Given the description of an element on the screen output the (x, y) to click on. 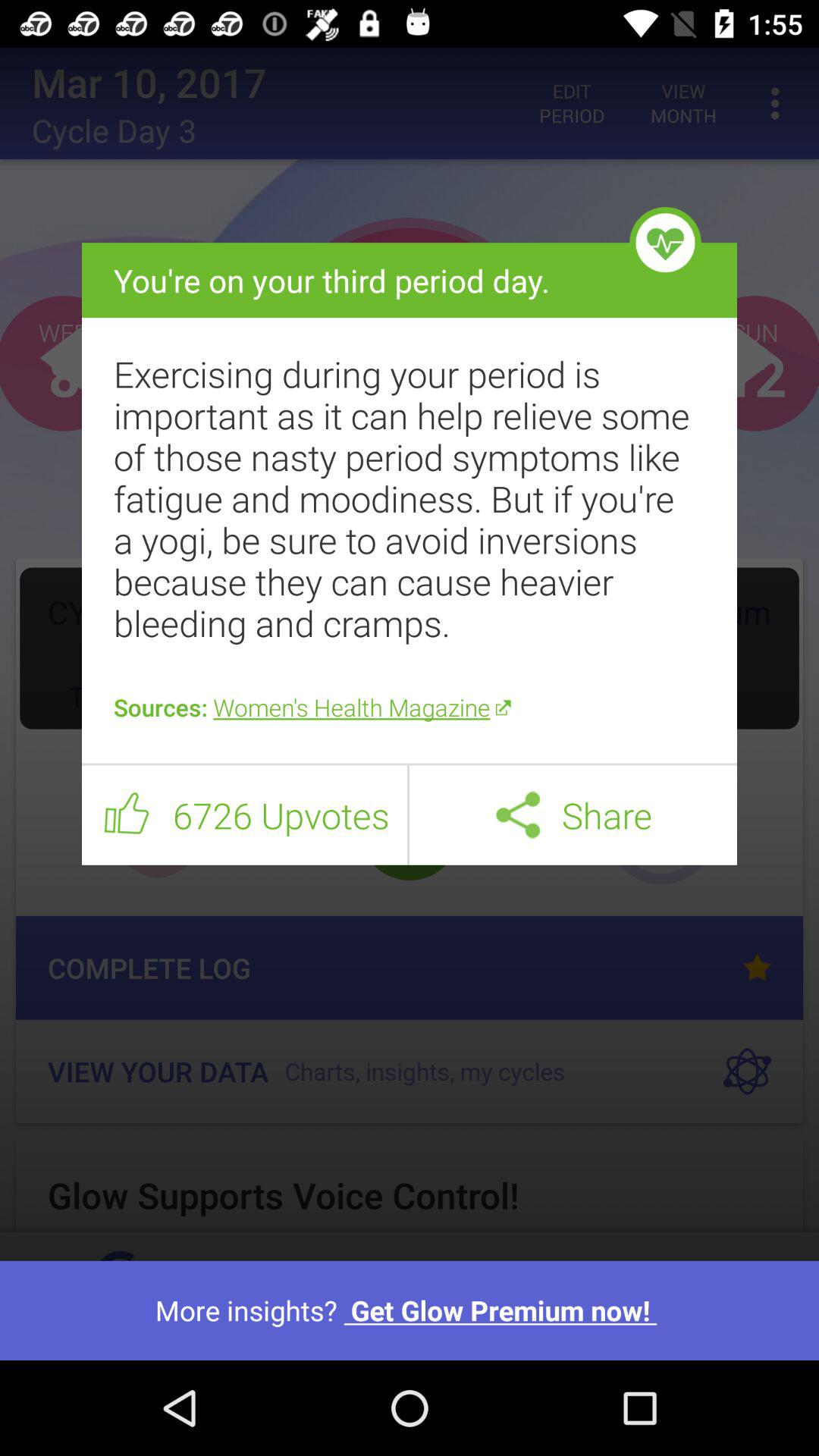
open the icon at the top right corner (665, 242)
